Given the description of an element on the screen output the (x, y) to click on. 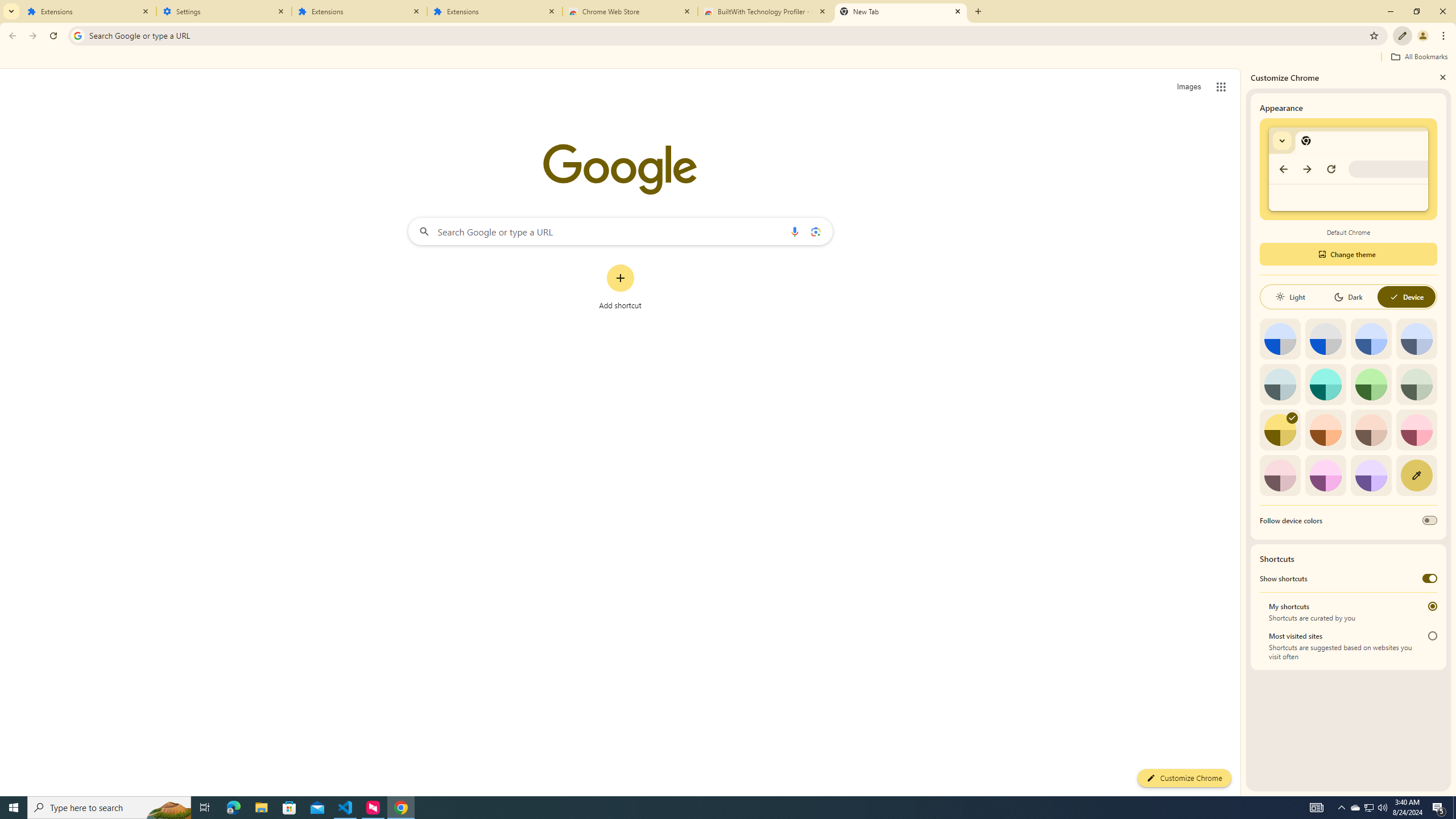
Side Panel Resize Handle (1242, 431)
Fuchsia (1325, 475)
Follow device colors (1429, 519)
Extensions (494, 11)
Most visited sites (1432, 635)
Cool grey (1416, 338)
Bookmarks (728, 58)
Add shortcut (620, 287)
Settings (224, 11)
Green (1371, 383)
Apricot (1371, 429)
Search Google or type a URL (619, 230)
